Given the description of an element on the screen output the (x, y) to click on. 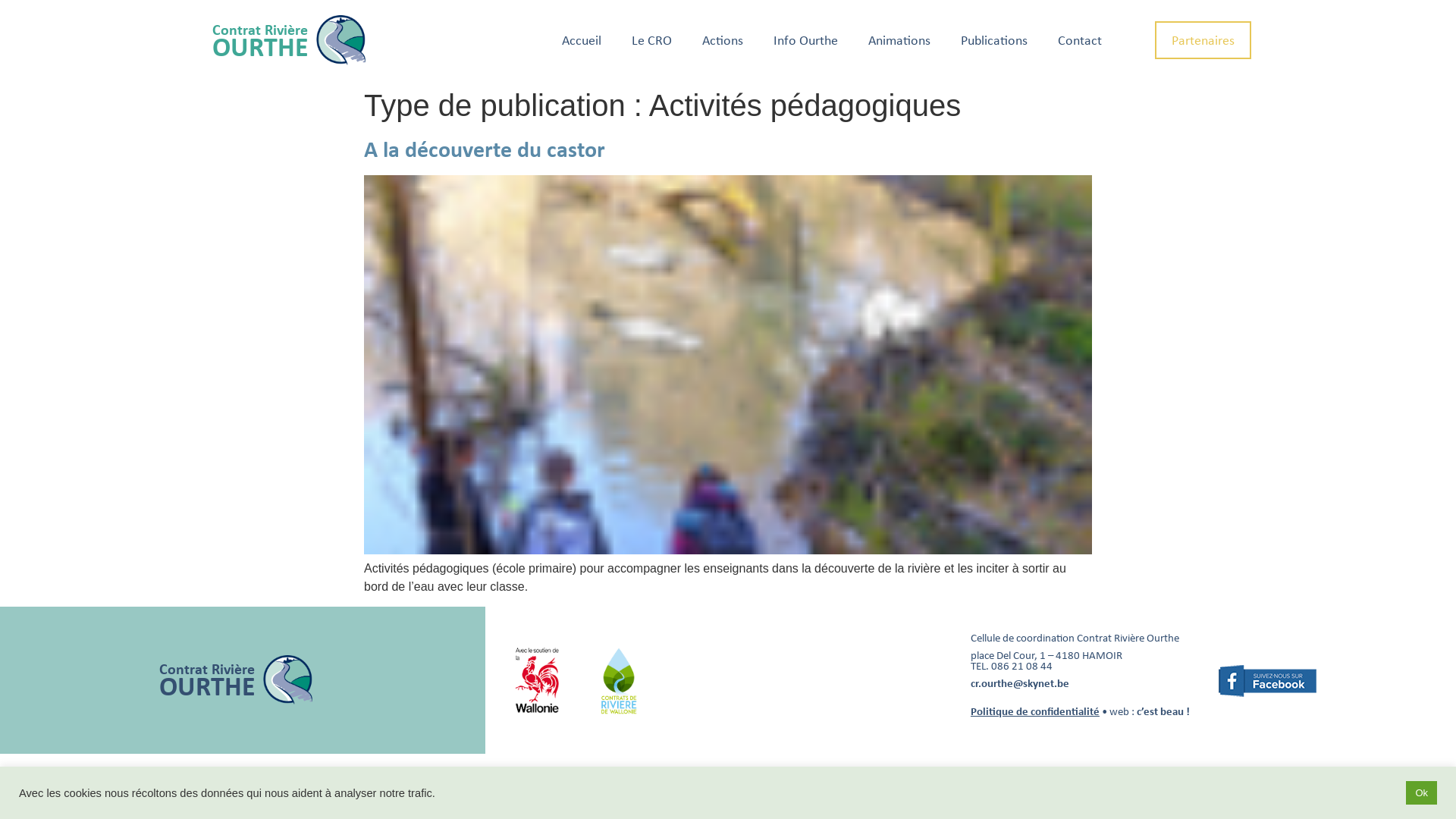
Le CRO Element type: text (651, 40)
Accueil Element type: text (581, 40)
Contact Element type: text (1079, 40)
Publications Element type: text (993, 40)
Info Ourthe Element type: text (805, 40)
Partenaires Element type: text (1202, 39)
Actions Element type: text (722, 40)
cr.ourthe@skynet.be Element type: text (1019, 683)
Ok Element type: text (1421, 792)
Animations Element type: text (899, 40)
